Given the description of an element on the screen output the (x, y) to click on. 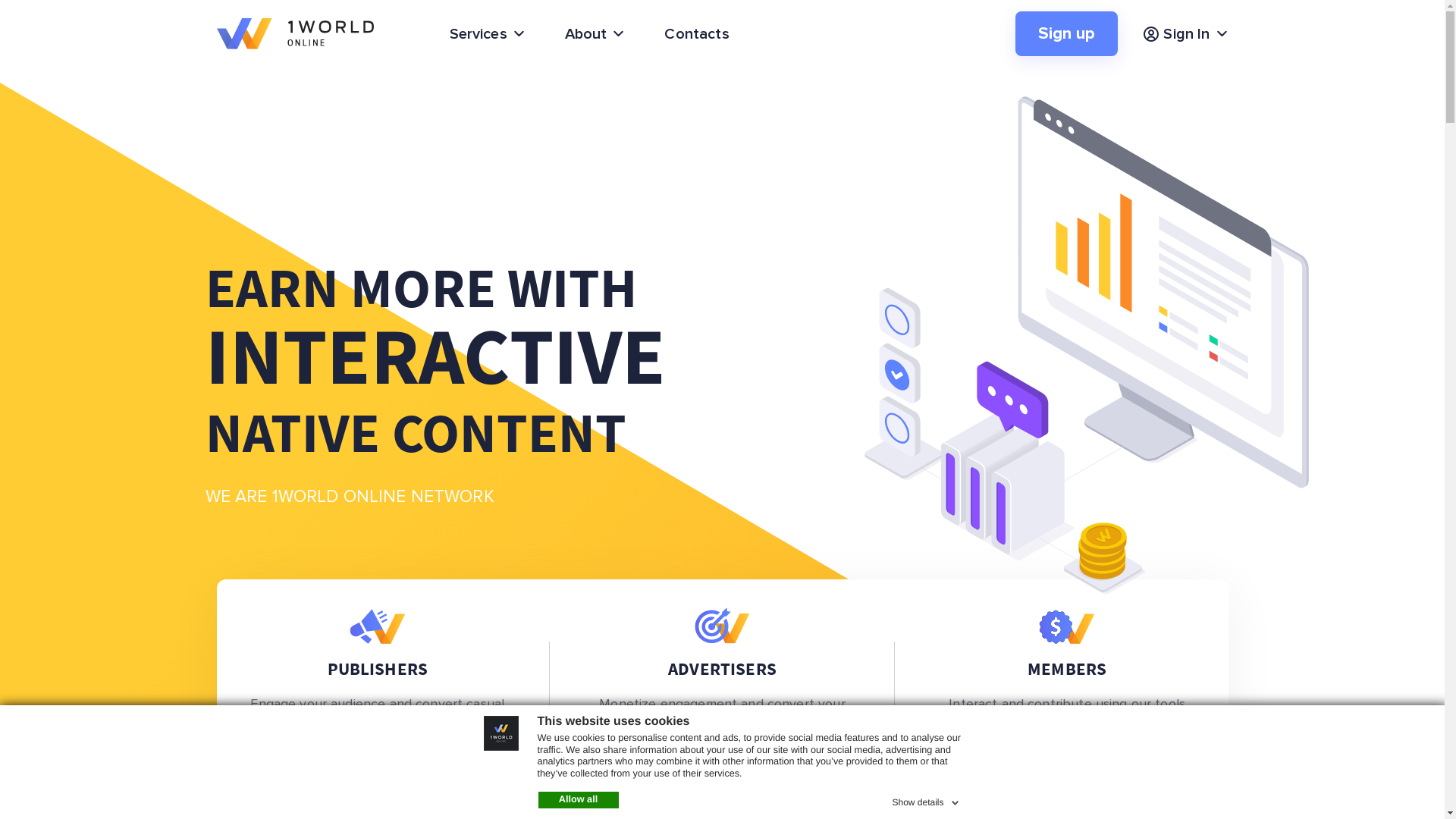
Show details Element type: text (926, 799)
Learn more Element type: text (1066, 770)
Sign up Element type: text (1066, 33)
Learn more Element type: text (721, 790)
Learn more Element type: text (377, 770)
Services Element type: text (486, 33)
About Element type: text (594, 33)
Sign In Element type: text (1184, 33)
Contacts Element type: text (696, 33)
Allow all Element type: text (578, 799)
